Given the description of an element on the screen output the (x, y) to click on. 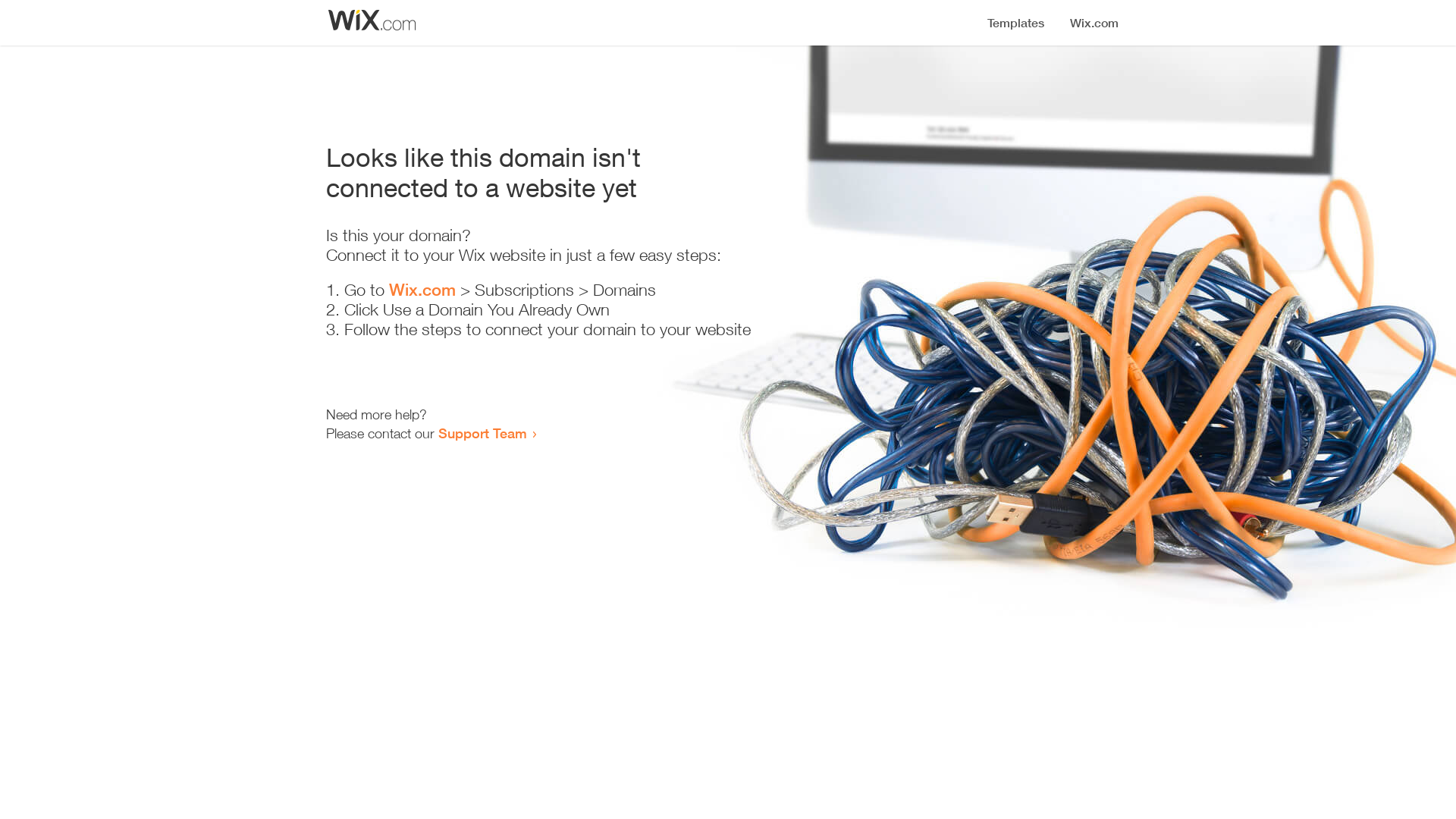
Support Team Element type: text (482, 432)
Wix.com Element type: text (422, 289)
